Given the description of an element on the screen output the (x, y) to click on. 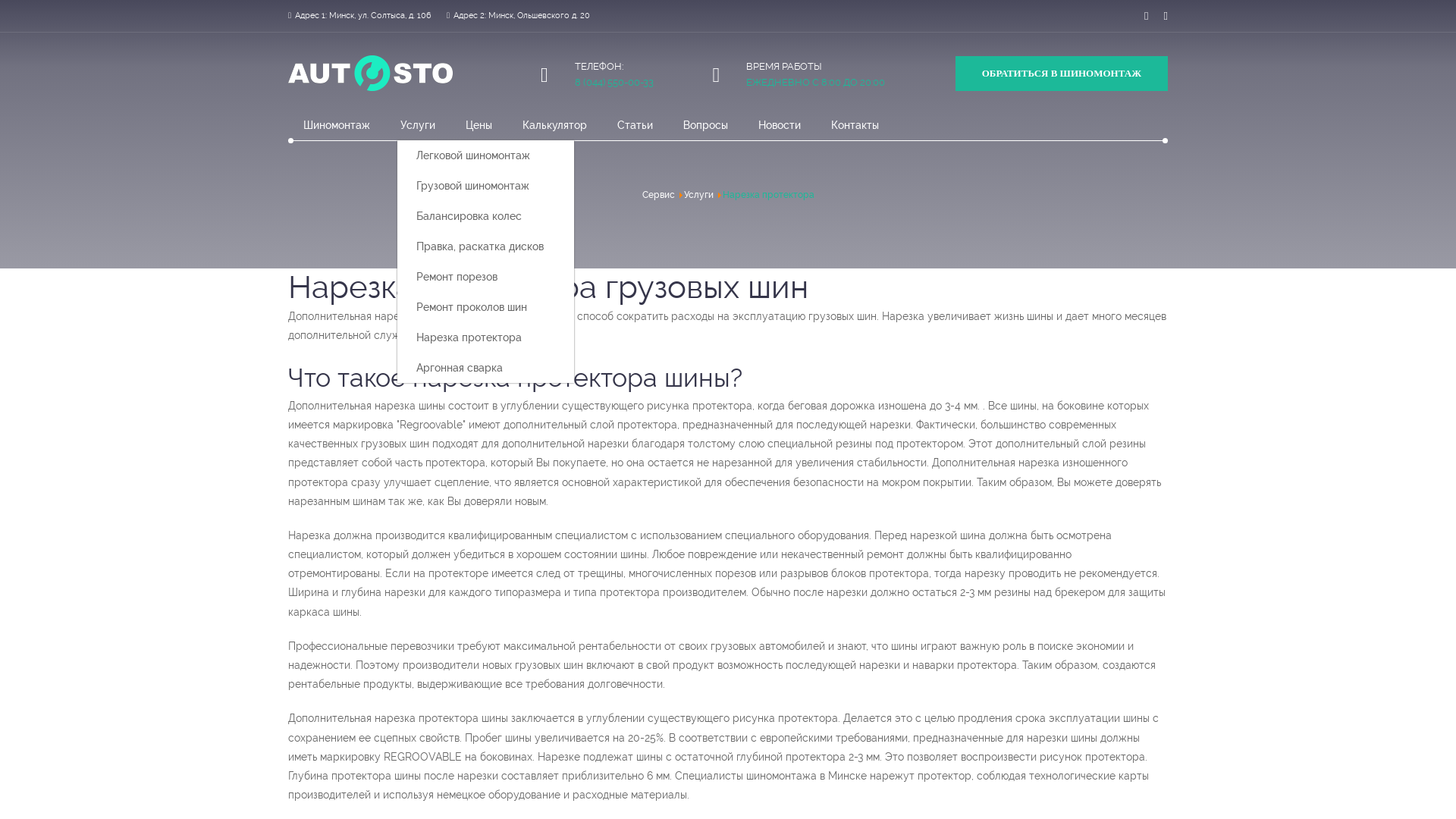
8 (044) 550-00-33 Element type: text (613, 81)
